Given the description of an element on the screen output the (x, y) to click on. 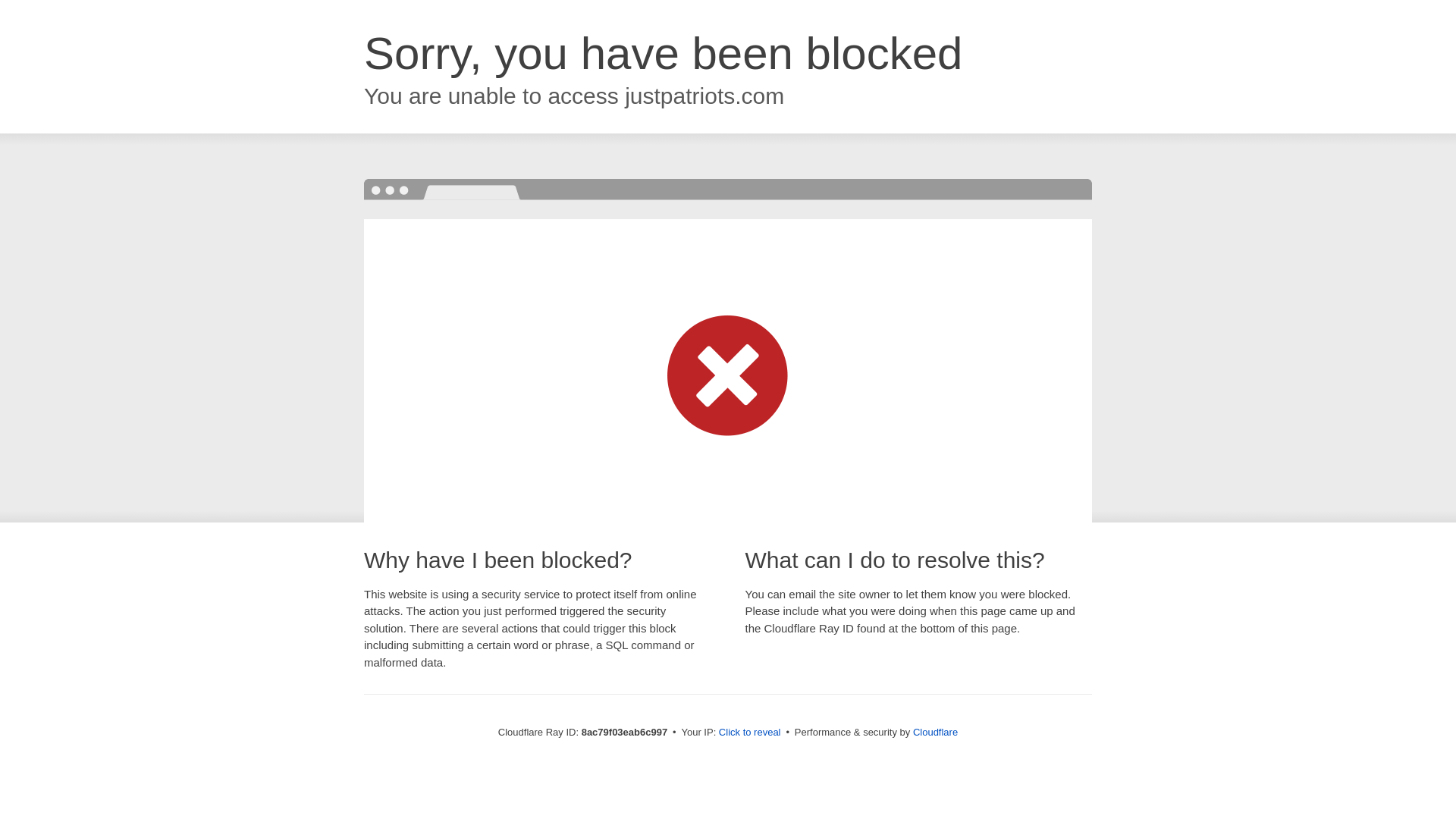
Click to reveal (749, 732)
Cloudflare (935, 731)
